Given the description of an element on the screen output the (x, y) to click on. 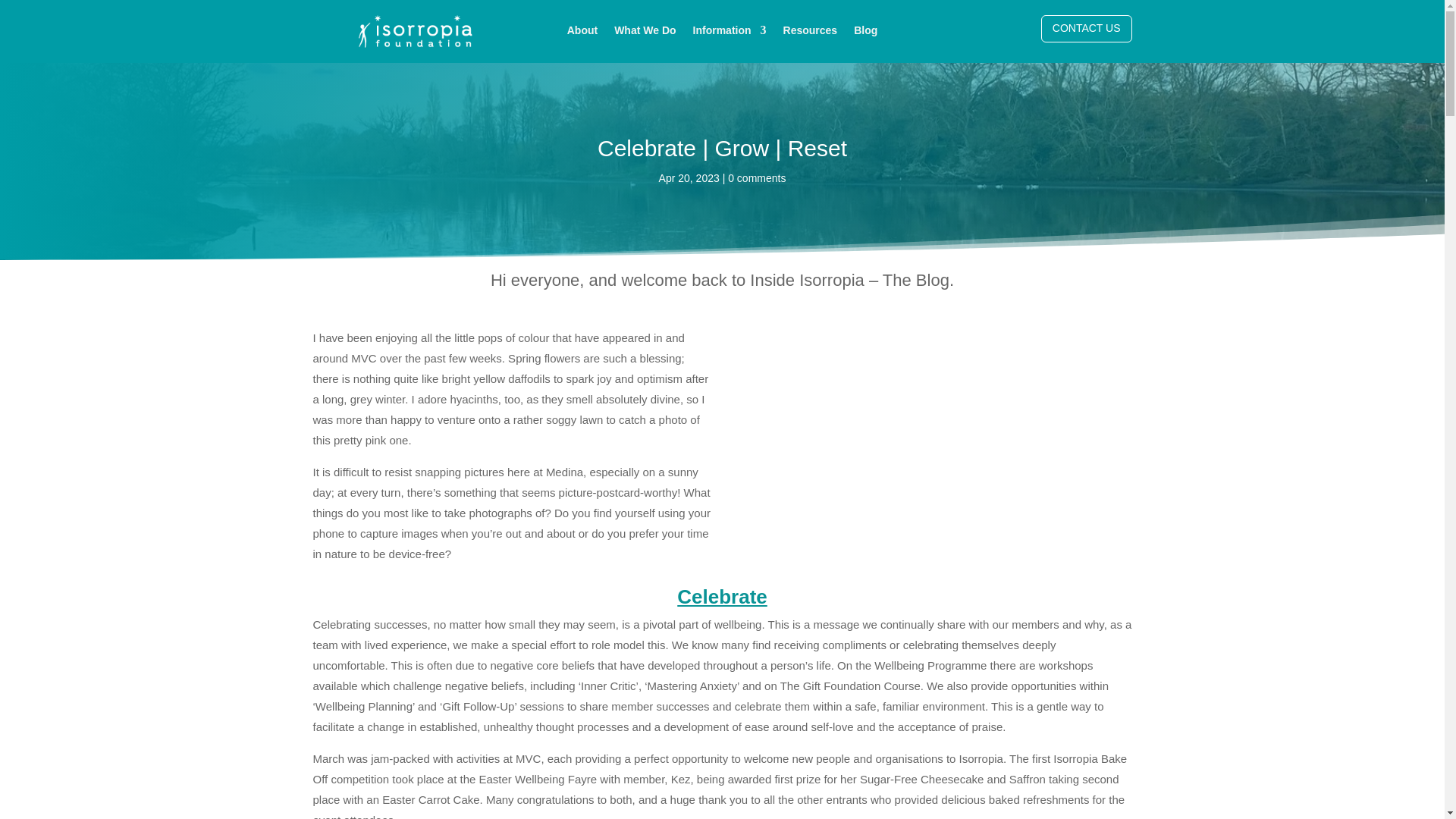
Resources (810, 33)
Information (730, 33)
ISO LOGO Main (369, 63)
0 comments (757, 177)
Blog (865, 33)
About (581, 33)
CONTACT US (1086, 28)
What We Do (644, 33)
ISO Logo Light (414, 31)
